Given the description of an element on the screen output the (x, y) to click on. 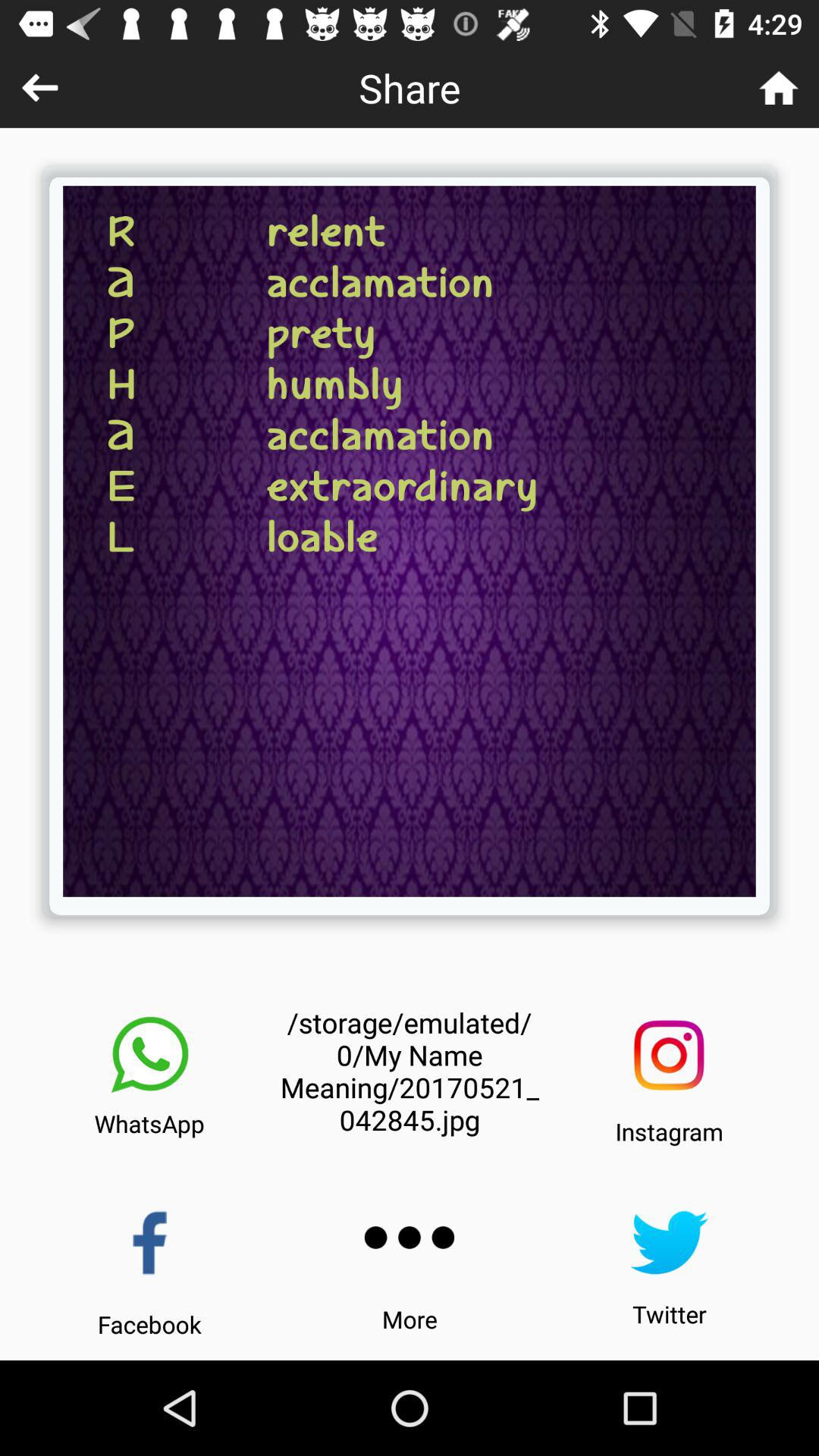
more options selection (409, 1237)
